Given the description of an element on the screen output the (x, y) to click on. 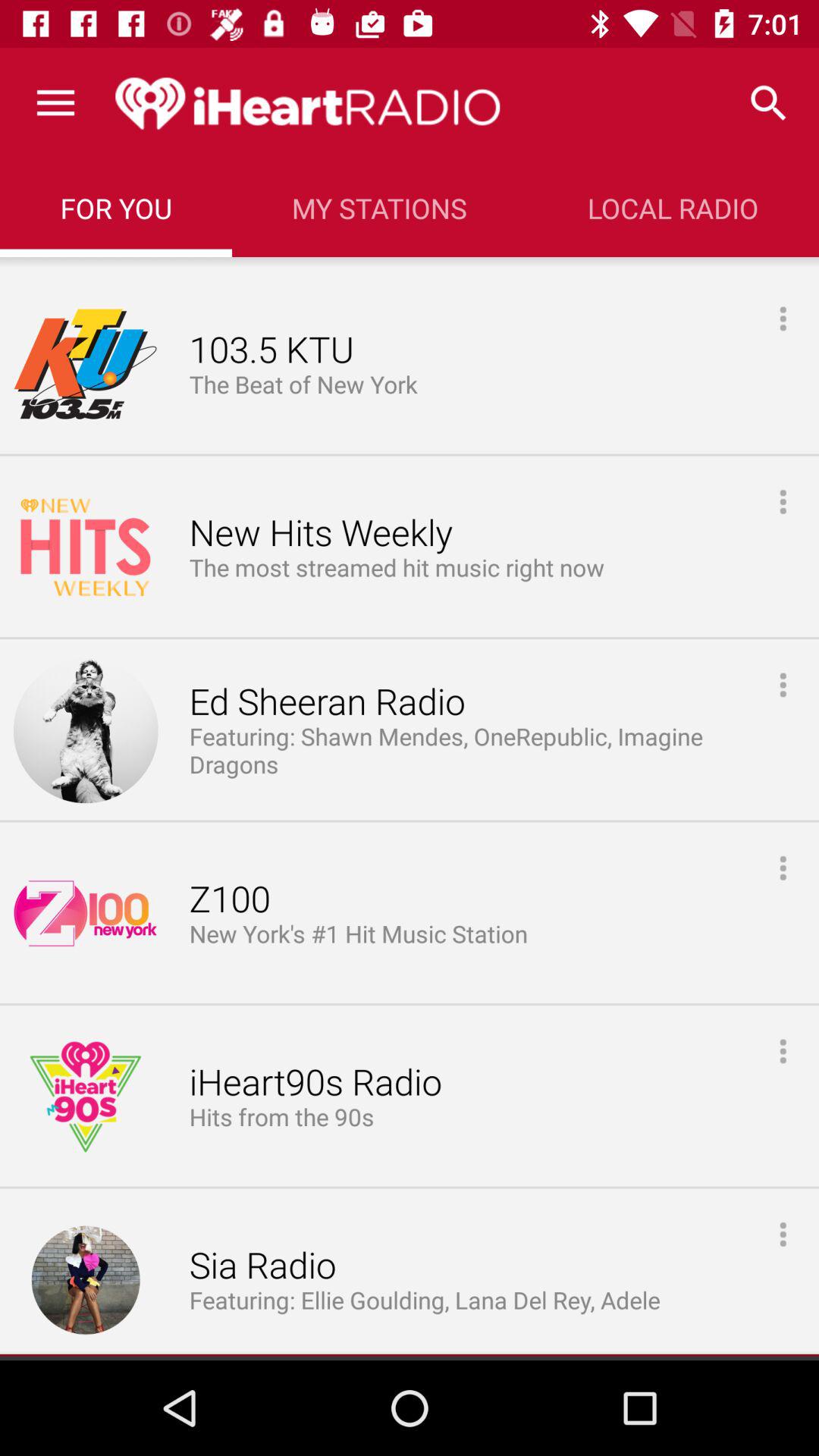
launch the icon next to the my stations icon (673, 208)
